Given the description of an element on the screen output the (x, y) to click on. 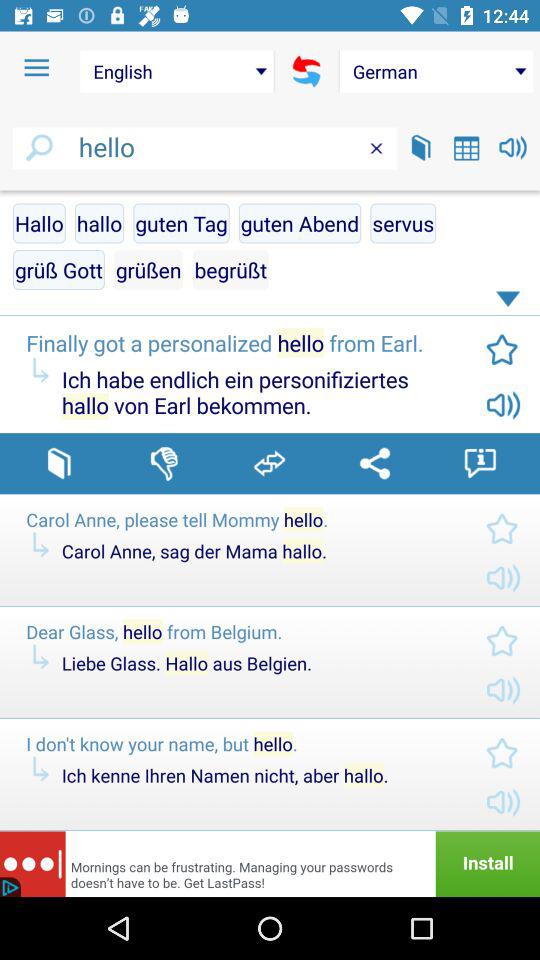
tap icon next to guten abend item (181, 223)
